Given the description of an element on the screen output the (x, y) to click on. 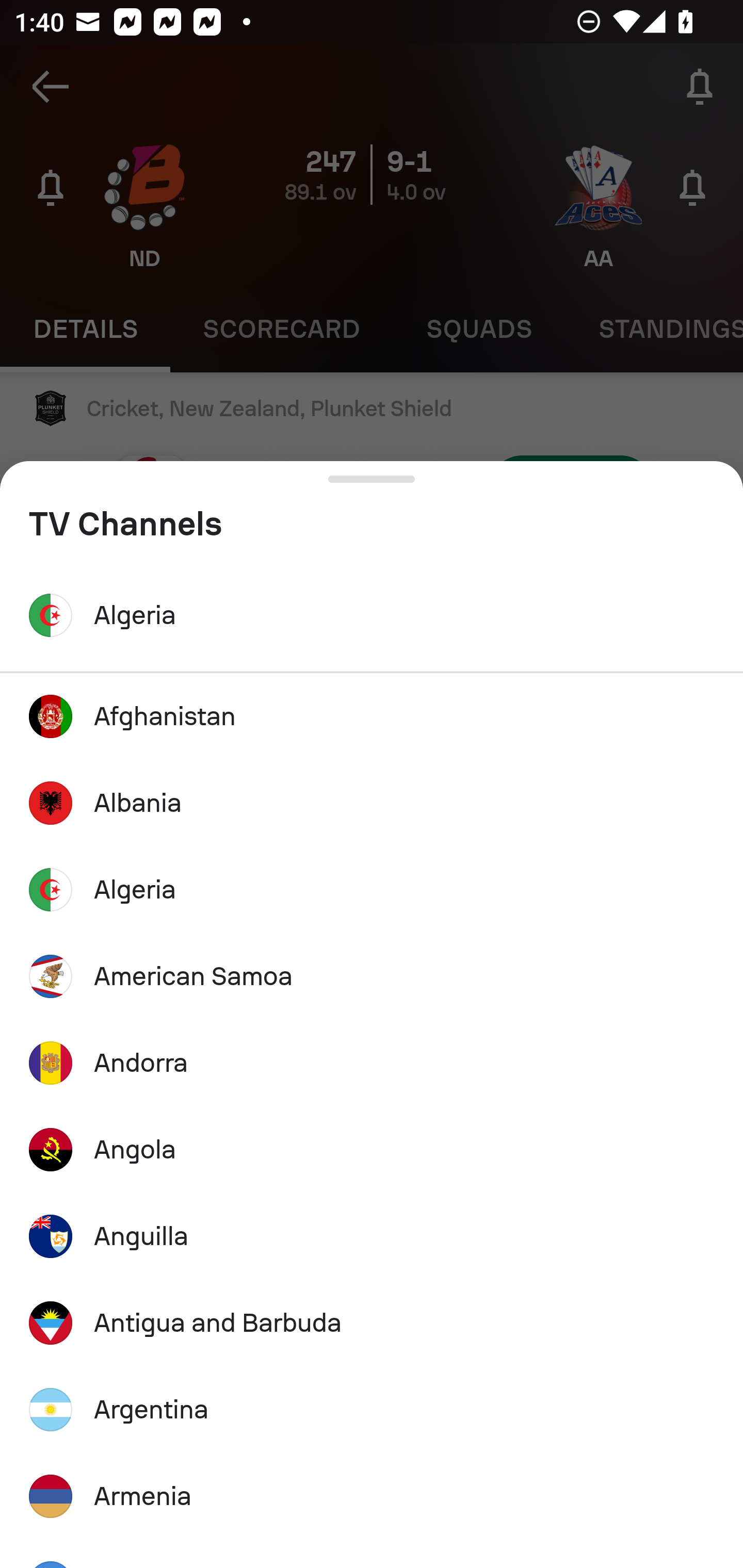
Algeria (371, 615)
Afghanistan (371, 716)
Albania (371, 803)
Algeria (371, 889)
American Samoa (371, 975)
Andorra (371, 1063)
Angola (371, 1150)
Anguilla (371, 1236)
Antigua and Barbuda (371, 1322)
Argentina (371, 1409)
Armenia (371, 1496)
